Given the description of an element on the screen output the (x, y) to click on. 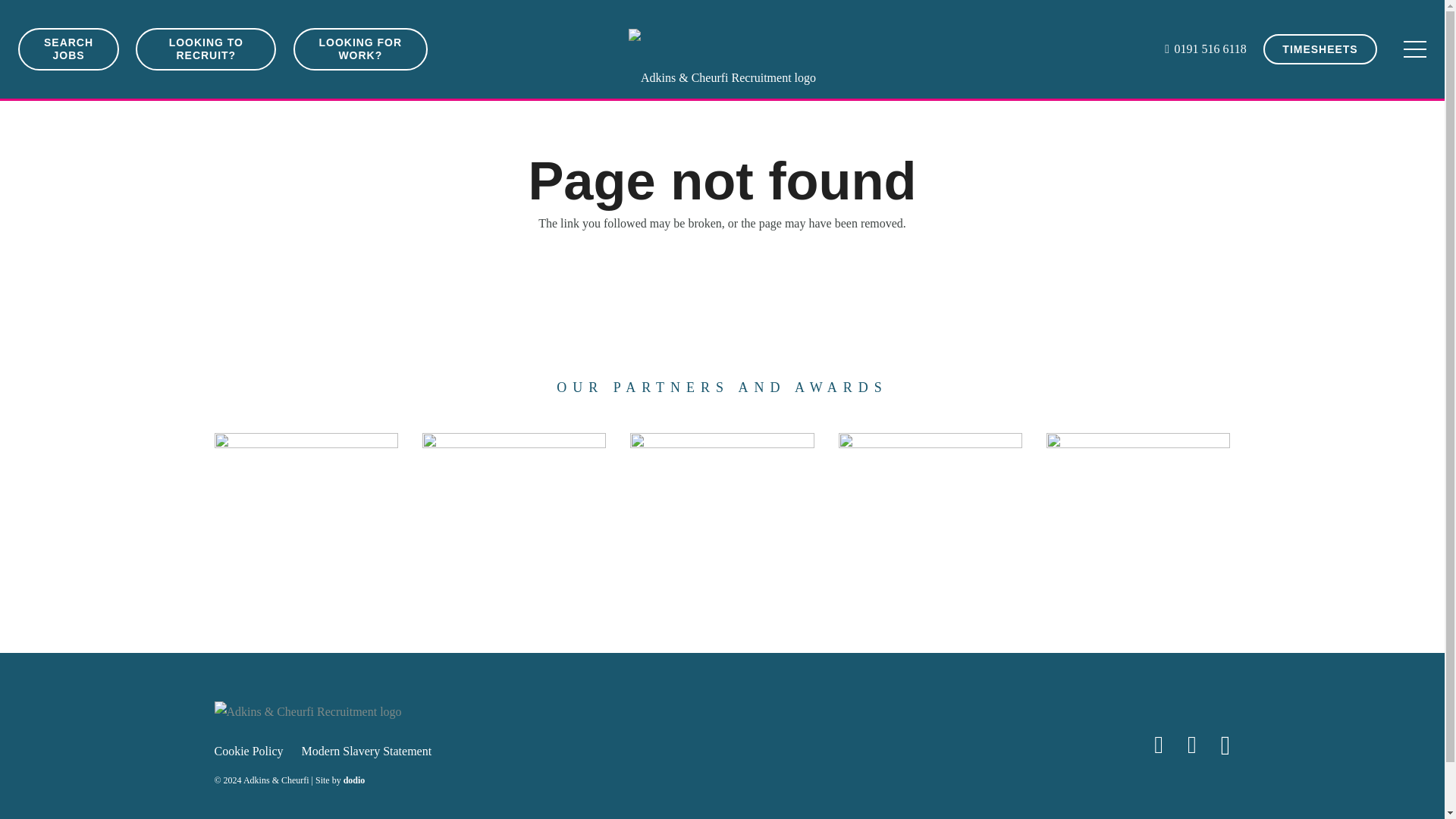
SEARCH JOBS (68, 48)
LOOKING TO RECRUIT? (205, 48)
Cookie Policy (248, 750)
Modern Slavery Statement (366, 750)
LOOKING FOR WORK? (360, 48)
0191 516 6118 (1205, 48)
dodio (354, 779)
TIMESHEETS (1320, 48)
